Given the description of an element on the screen output the (x, y) to click on. 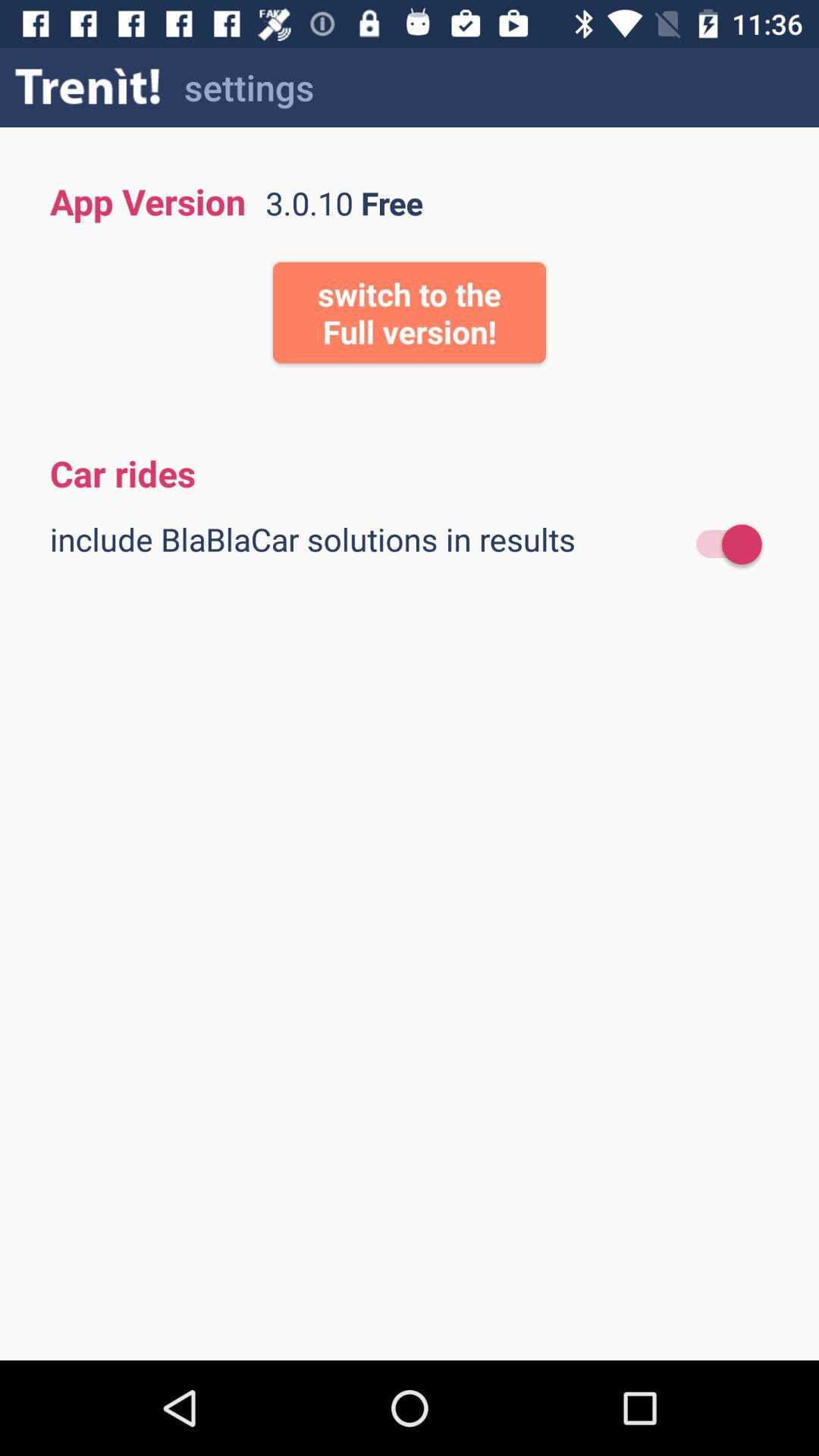
toggle blablacare results (721, 544)
